Given the description of an element on the screen output the (x, y) to click on. 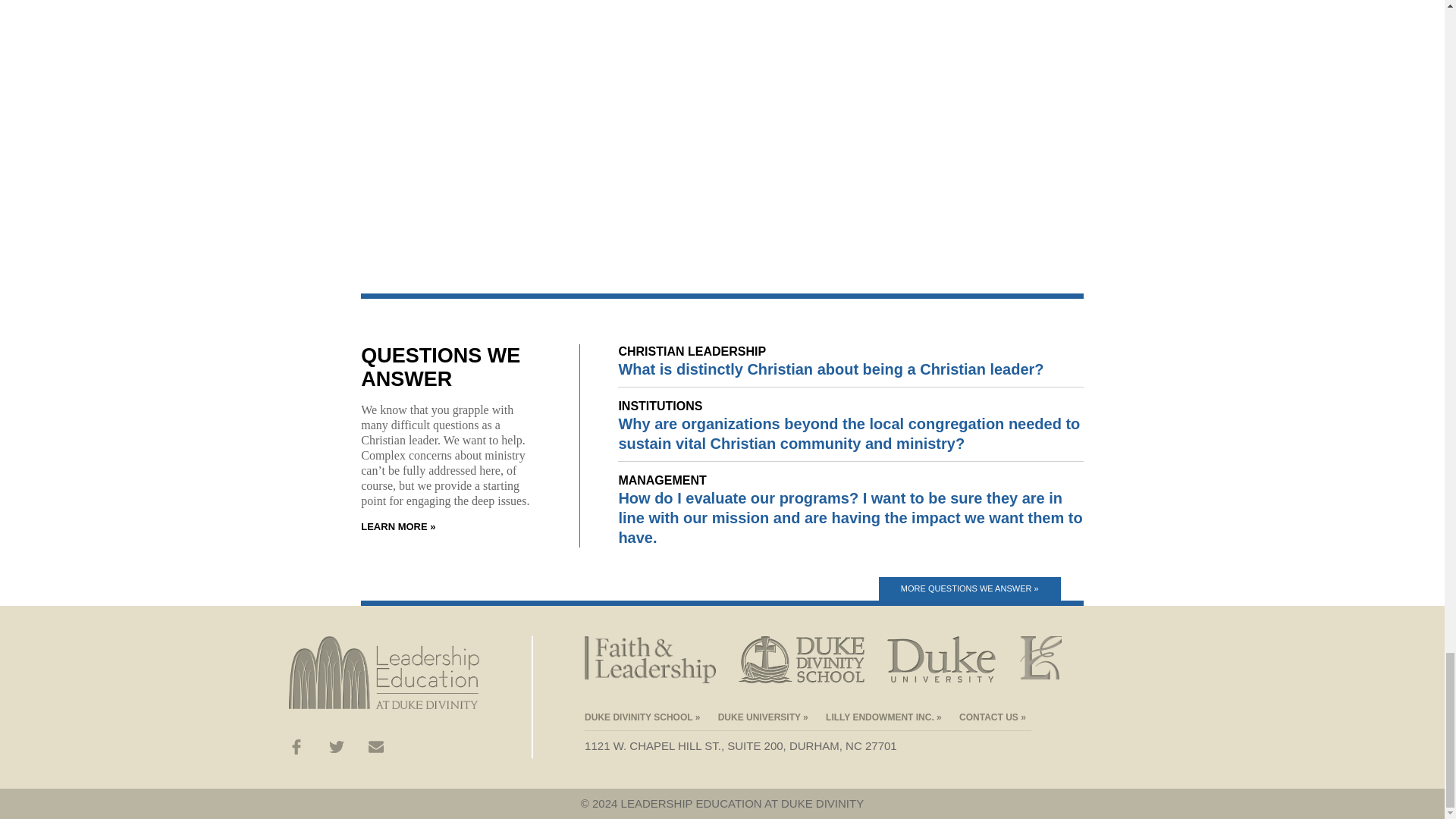
Visit Leadership Education Twitter Page (336, 749)
Visit Leadership Education Facebook Page (296, 746)
Visit Leadership Education Facebook Page (296, 749)
